Given the description of an element on the screen output the (x, y) to click on. 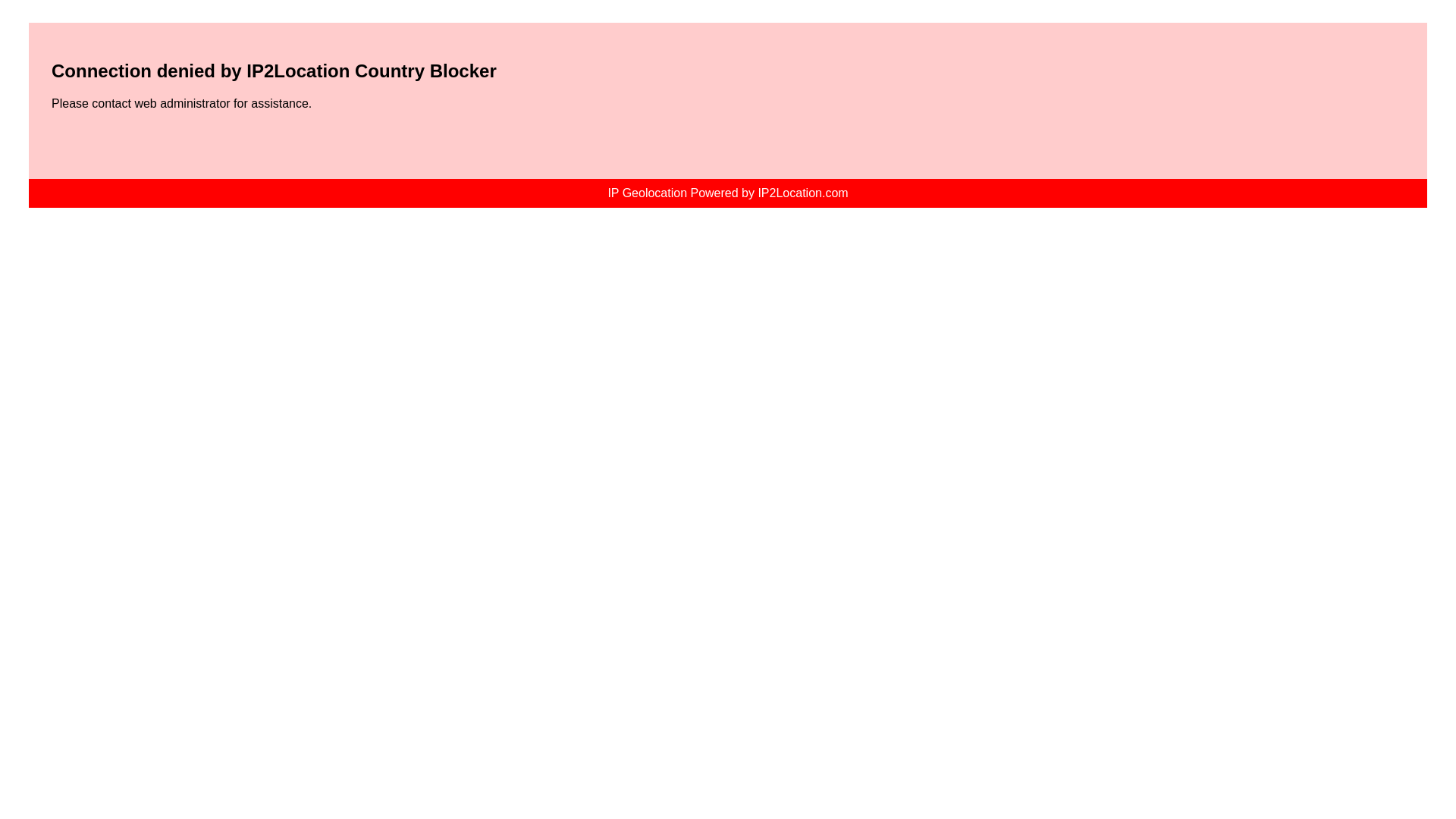
IP Geolocation Powered by IP2Location.com (727, 192)
